Given the description of an element on the screen output the (x, y) to click on. 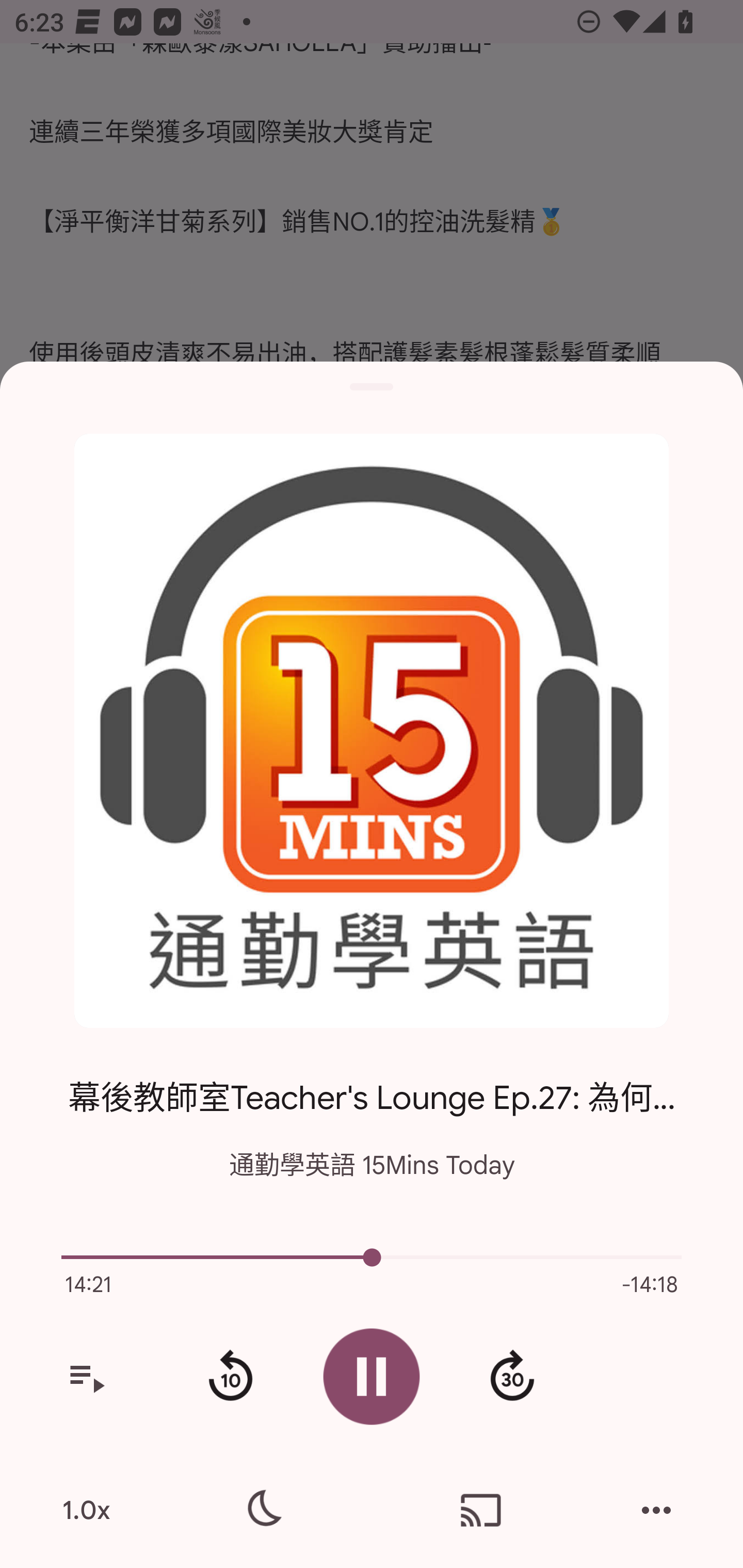
Open the show page for 通勤學英語 15Mins Today (371, 731)
5008.0 Current episode playback (371, 1257)
Pause (371, 1376)
View your queue (86, 1376)
Rewind 10 seconds (230, 1376)
Fast forward 30 second (511, 1376)
1.0x Playback speed is 1.0. (86, 1510)
Sleep timer settings (261, 1510)
Cast. Disconnected (480, 1510)
More actions (655, 1510)
